Given the description of an element on the screen output the (x, y) to click on. 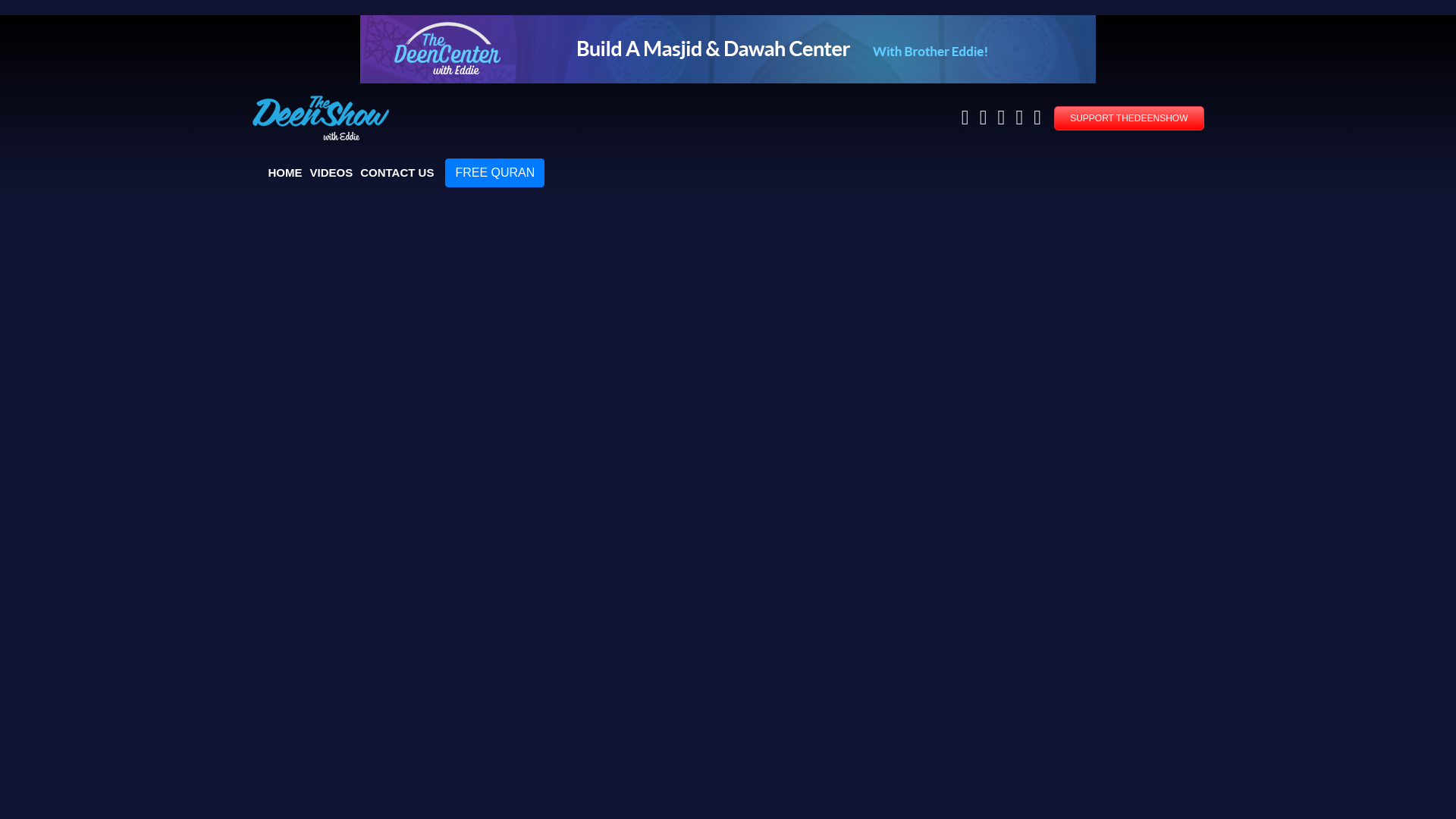
FREE QURAN (494, 172)
HOME (284, 172)
CONTACT US (396, 172)
SUPPORT THEDEENSHOW (1129, 118)
VIDEOS (330, 172)
